Given the description of an element on the screen output the (x, y) to click on. 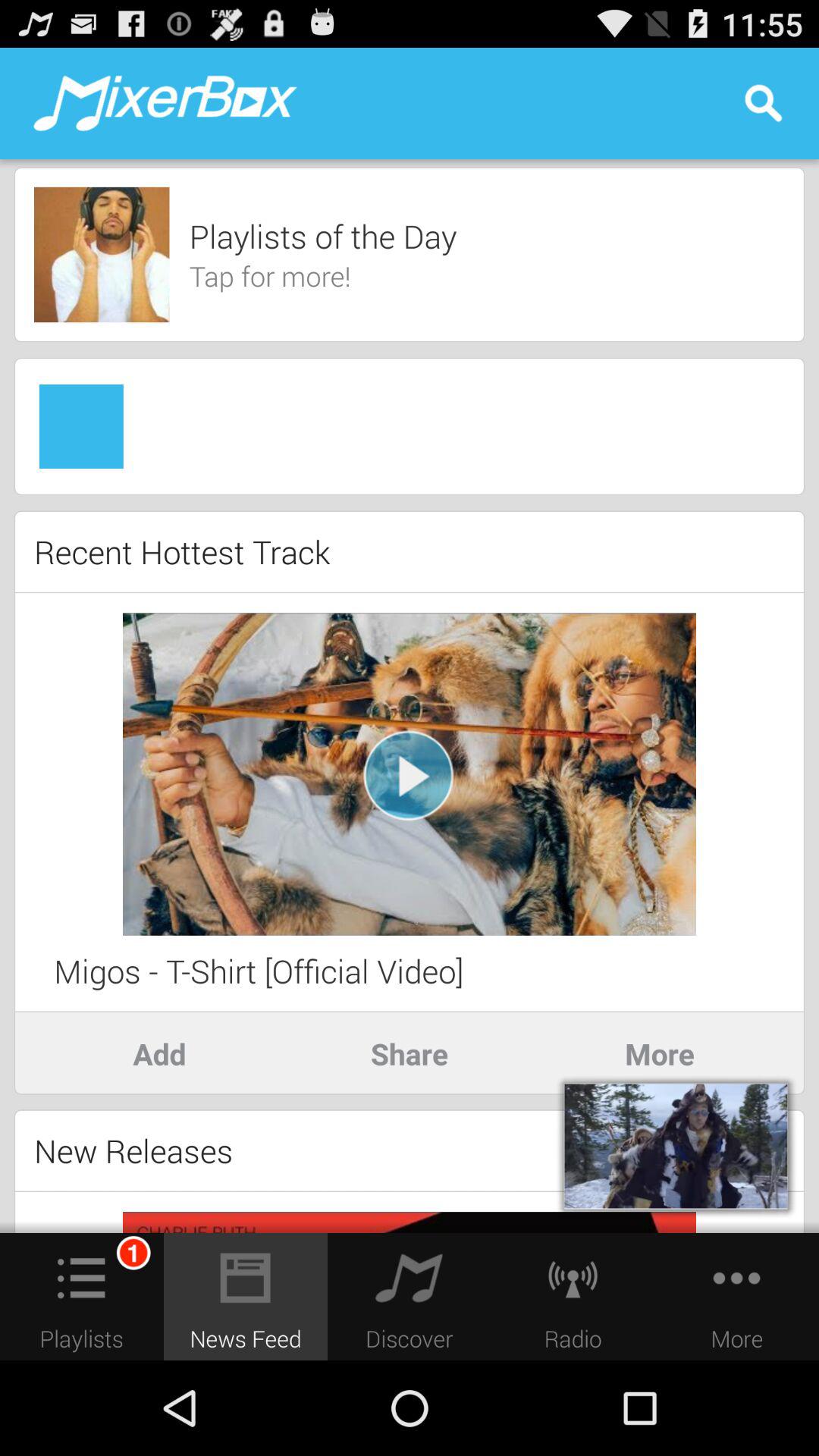
press the item to the right of add item (409, 1053)
